Given the description of an element on the screen output the (x, y) to click on. 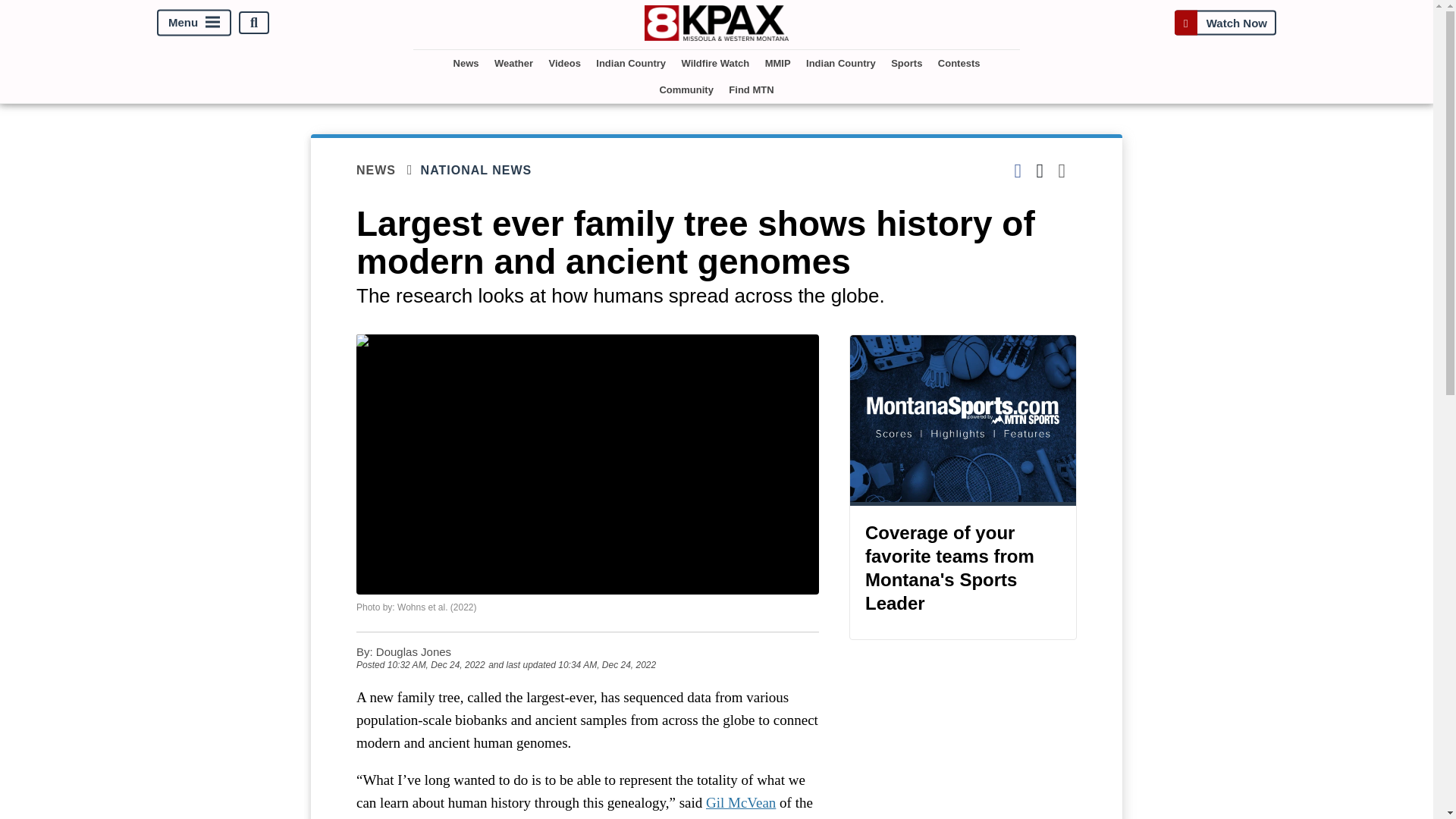
Watch Now (1224, 22)
Menu (194, 22)
